Given the description of an element on the screen output the (x, y) to click on. 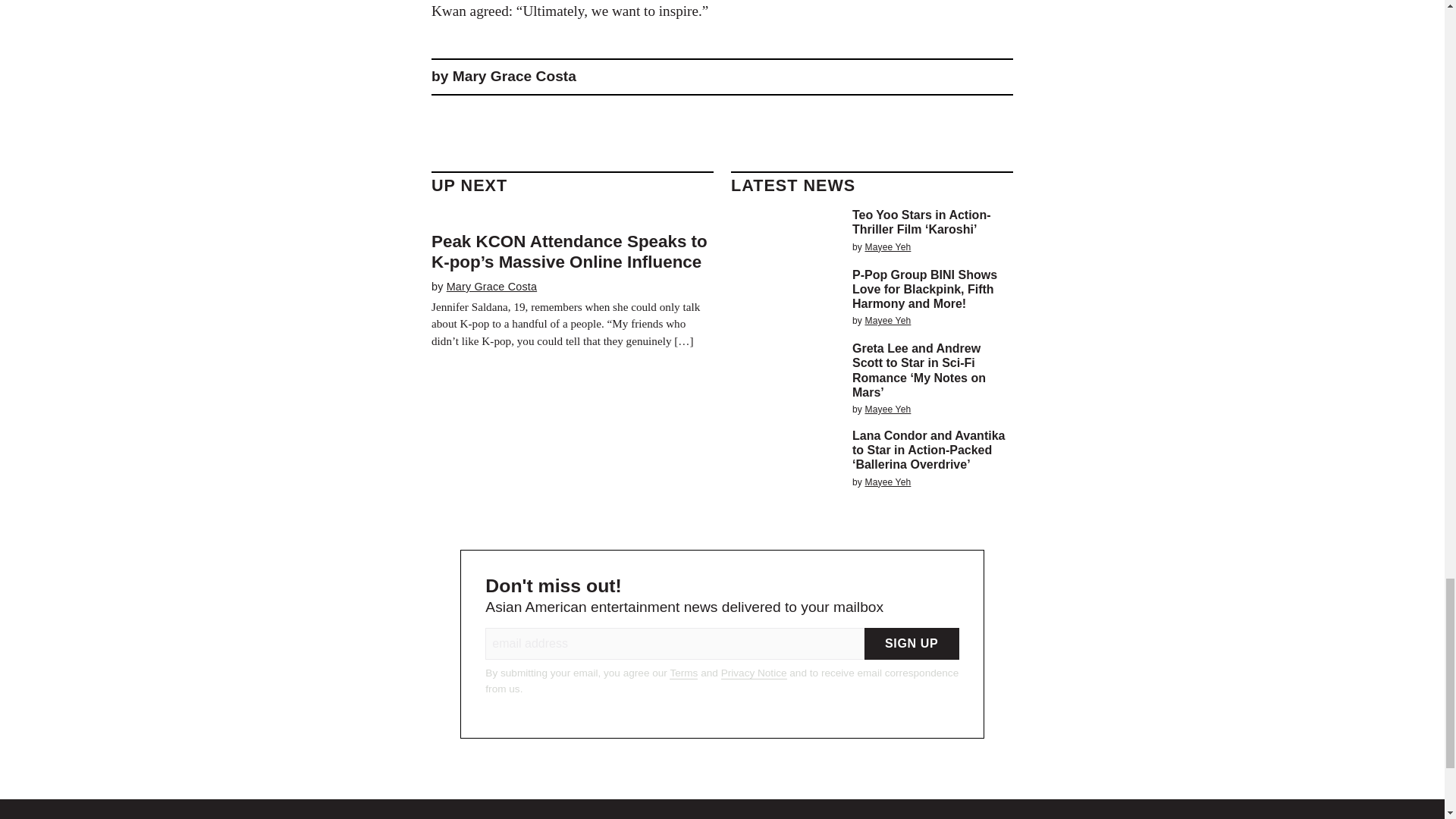
Mary Grace Costa (514, 75)
Mary Grace Costa (491, 286)
Sign Up (911, 644)
